Given the description of an element on the screen output the (x, y) to click on. 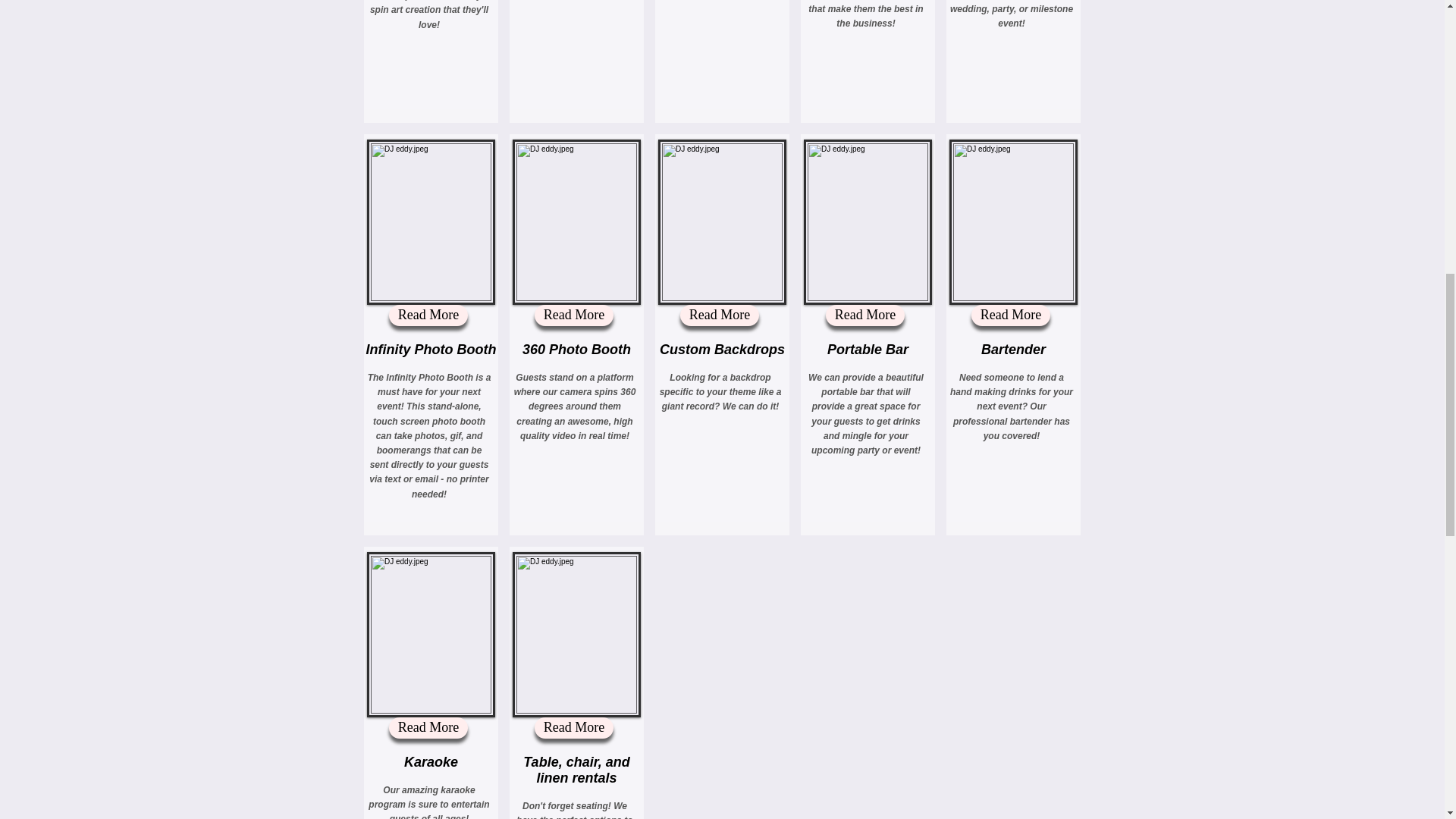
IMG-5204.jpg (430, 221)
360 videobooth.jpg (576, 221)
Portable Bar.HEIC (867, 221)
Read More (427, 727)
Microphone.jpg (430, 634)
Cocktails.jpg (1013, 221)
Custom Circular Backdrop.jpg (722, 221)
Read More (573, 314)
high top centerpieces.jpg (576, 634)
Read More (573, 727)
Read More (427, 314)
